Given the description of an element on the screen output the (x, y) to click on. 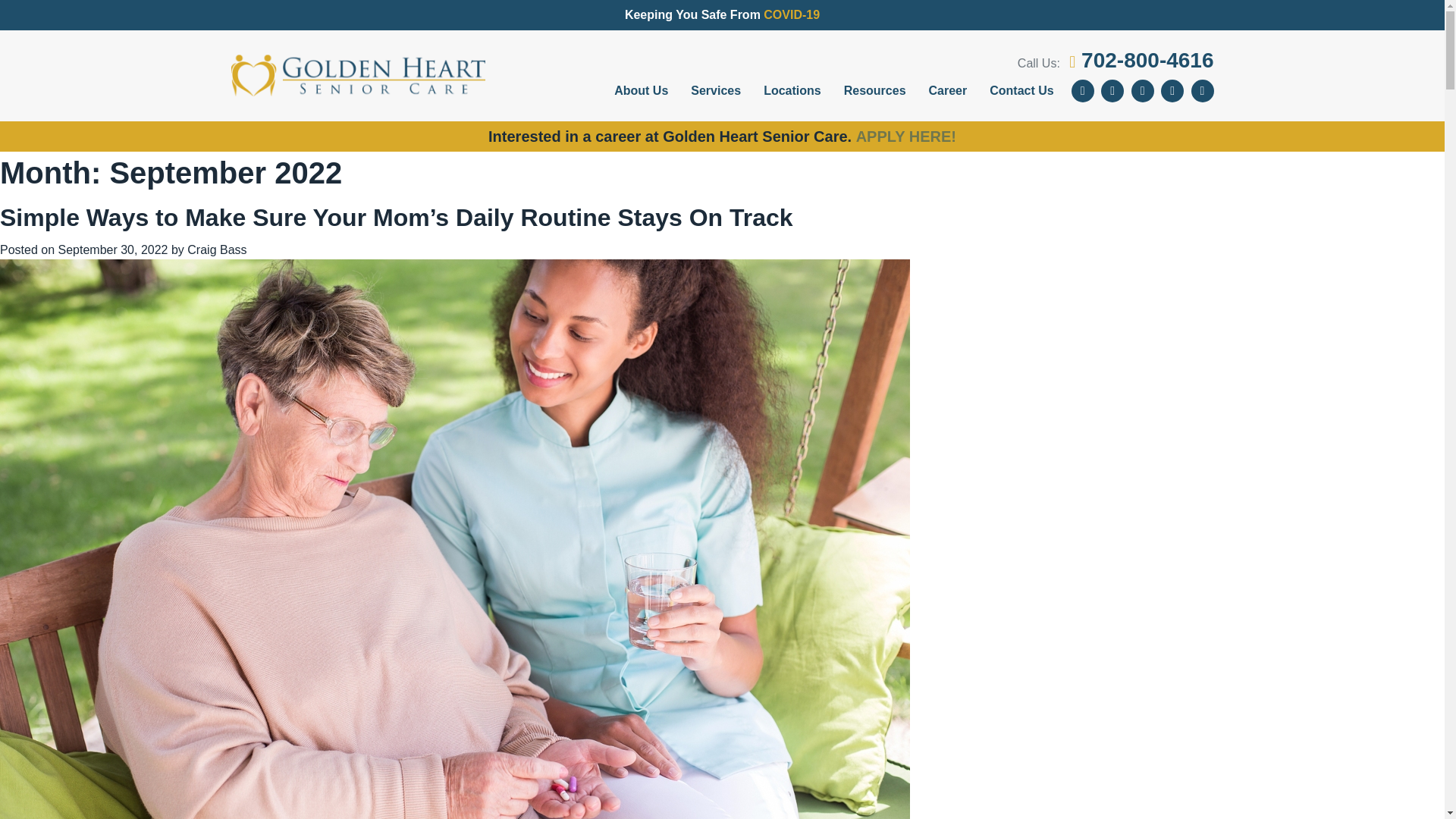
About Us (640, 91)
Services (715, 91)
Locations (792, 91)
Resources (874, 91)
Apply here for career at Golden Heart Senior Care (906, 135)
September 30, 2022 (112, 249)
Contact Us (1021, 91)
Craig Bass (216, 249)
COVID-19 (790, 14)
Career (947, 91)
